Given the description of an element on the screen output the (x, y) to click on. 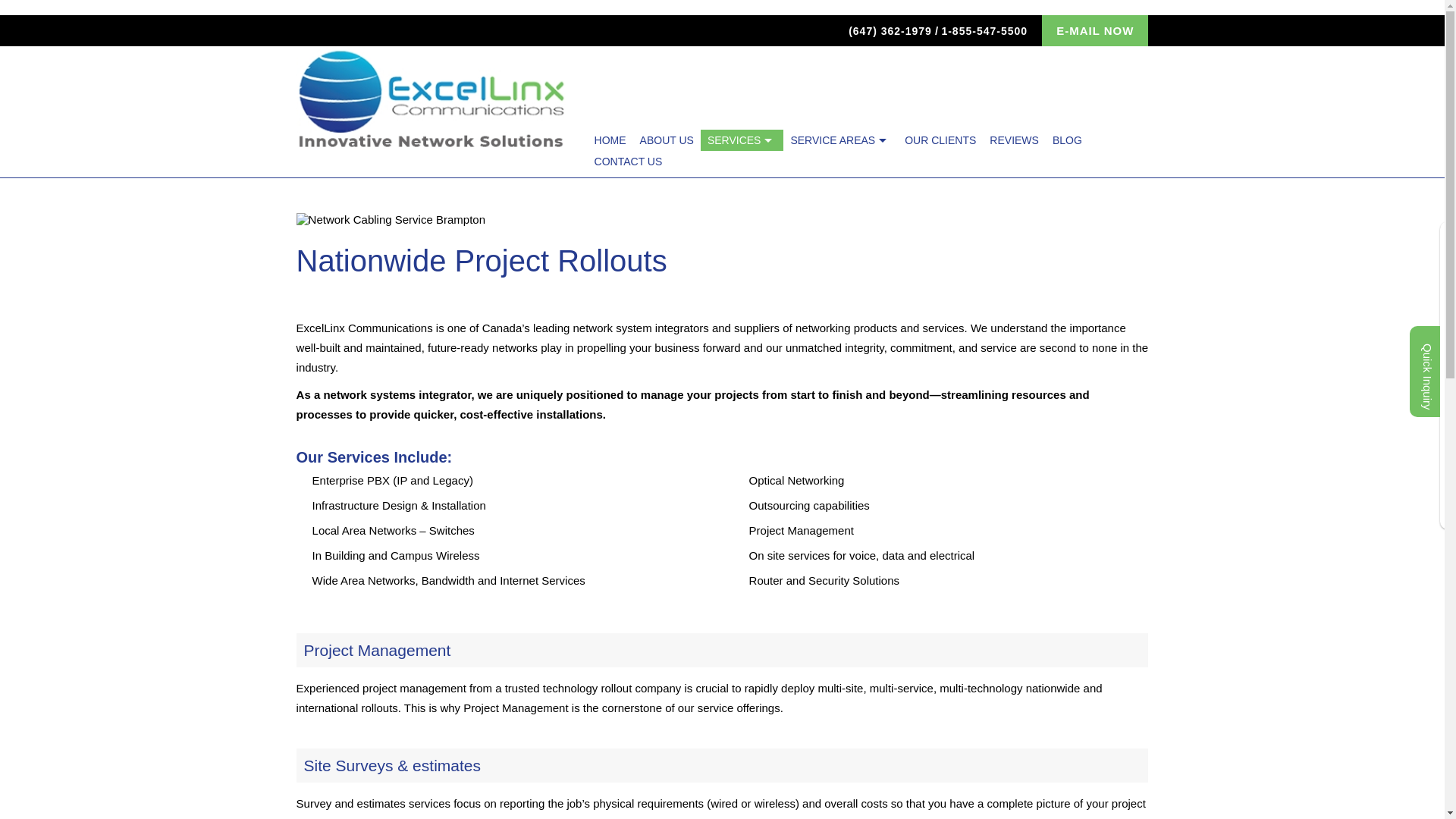
SERVICE AREAS (840, 139)
SERVICES (742, 139)
CONTACT US (628, 160)
ABOUT US (666, 139)
REVIEWS (1013, 139)
HOME (610, 139)
1-855-547-5500 (983, 30)
E-MAIL NOW (1095, 30)
BLOG (1067, 139)
OUR CLIENTS (940, 139)
